Given the description of an element on the screen output the (x, y) to click on. 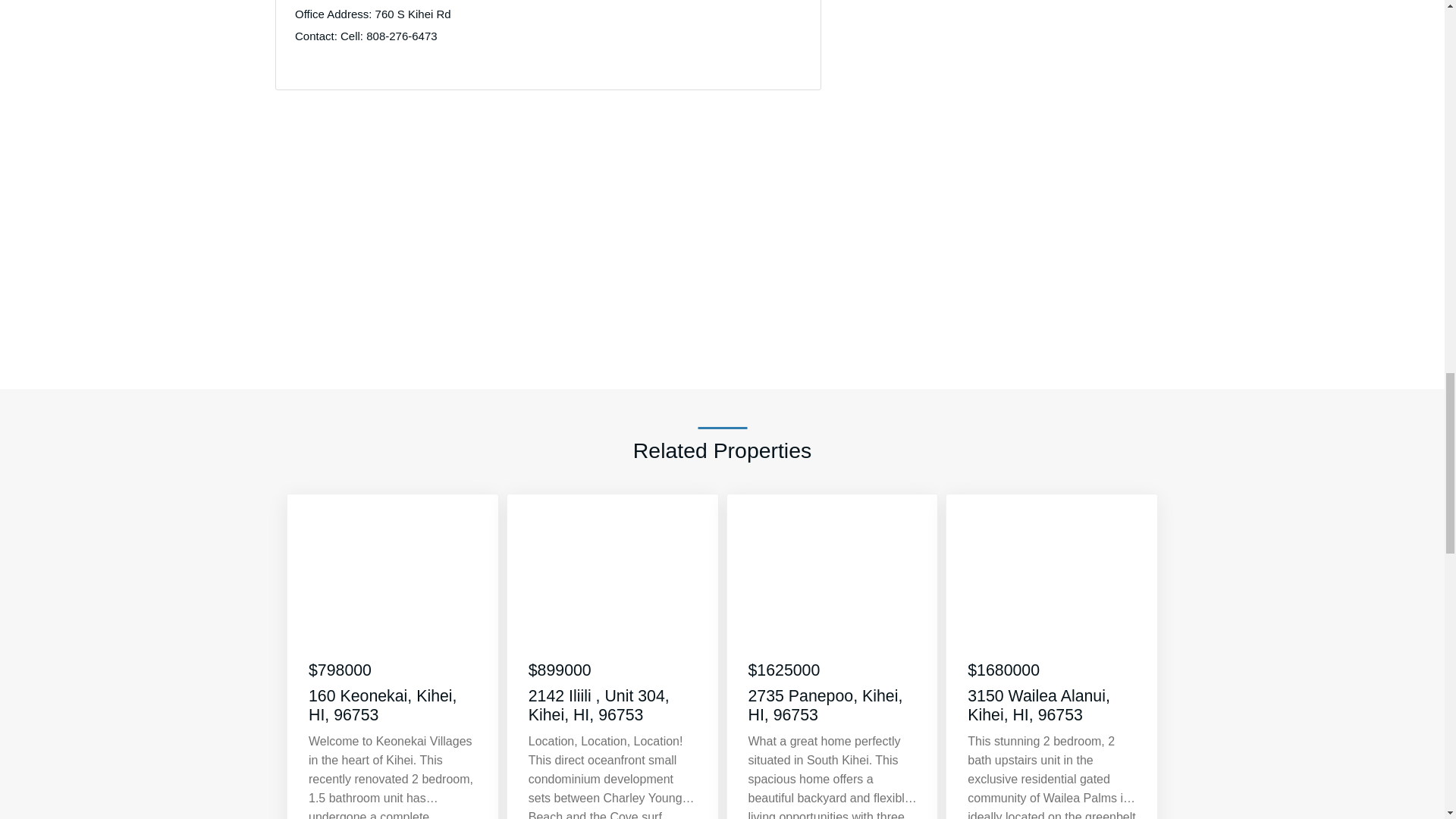
2735 Panepoo, Kihei, HI, 96753 (832, 705)
3150 Wailea Alanui, Kihei, HI, 96753 (1052, 705)
2142 Iliili , Unit 304, Kihei, HI, 96753 (612, 705)
160 Keonekai, Kihei, HI, 96753 (392, 705)
